Given the description of an element on the screen output the (x, y) to click on. 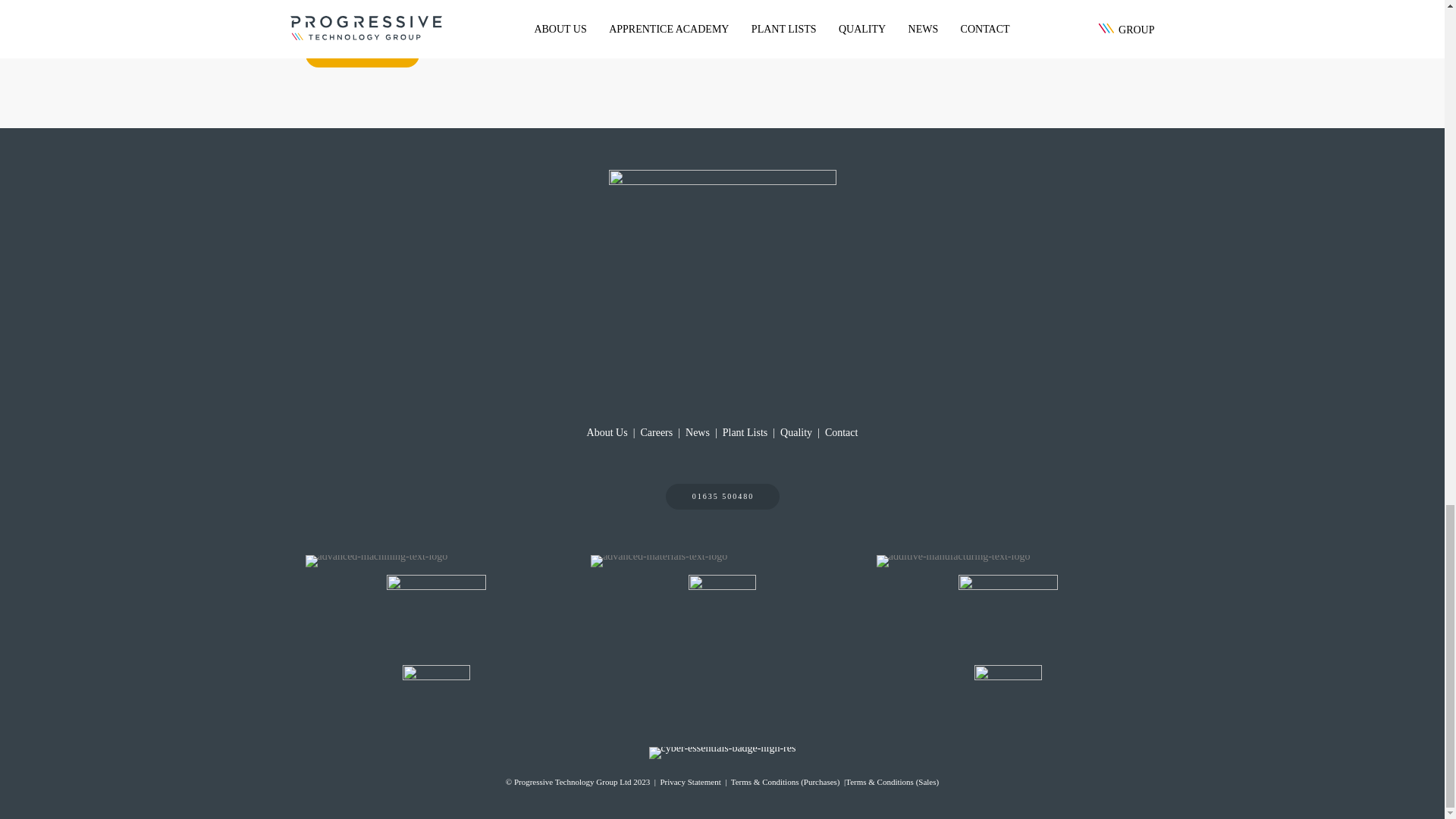
additive-manufacturing-staff (812, 9)
GALLERY (361, 54)
01635 500480 (721, 495)
NDT Room (1015, 9)
NDT Dye Penetrant Testing (507, 9)
